Given the description of an element on the screen output the (x, y) to click on. 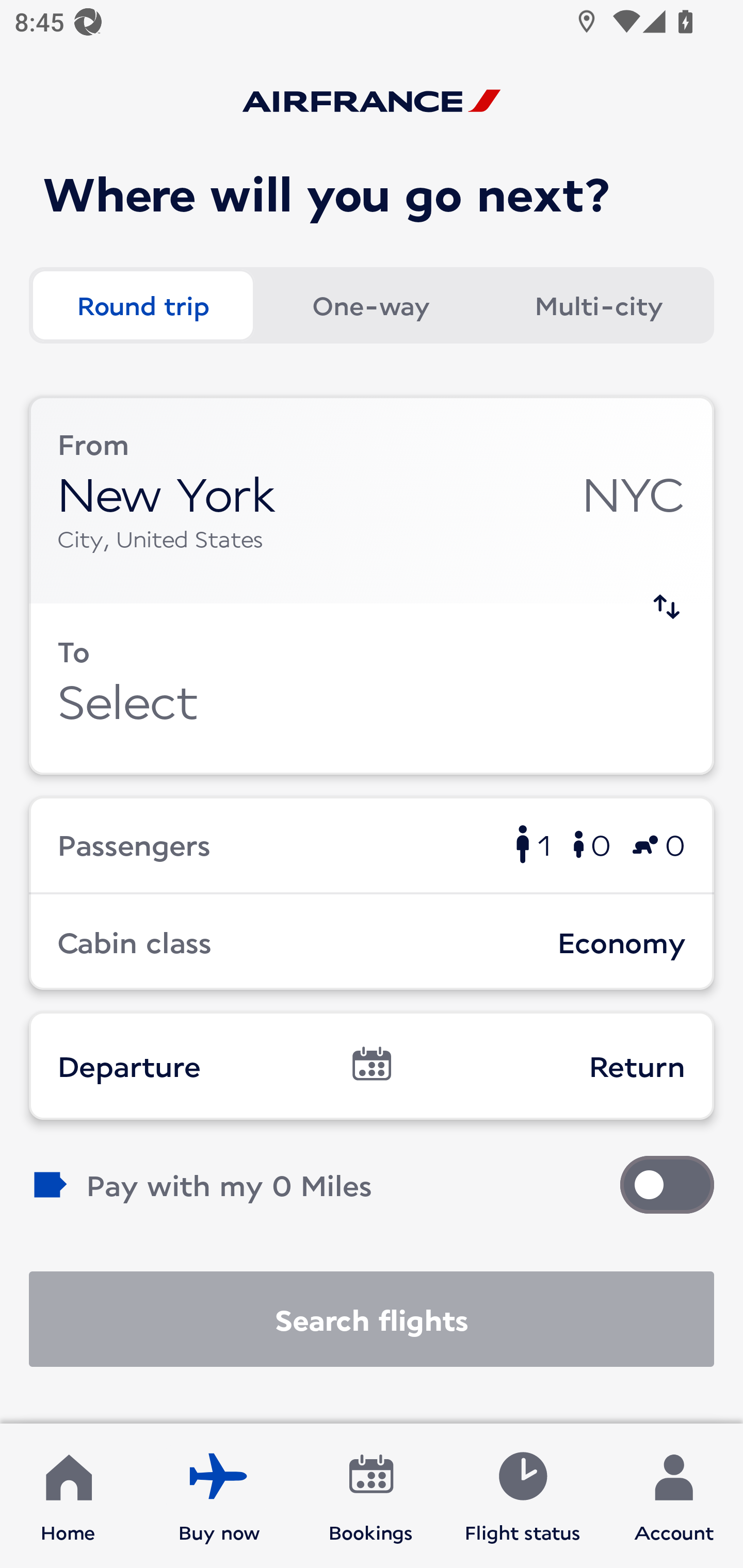
Round trip (142, 304)
One-way (370, 304)
Multi-city (598, 304)
From New York NYC City, United States (371, 499)
To Select (371, 688)
Passengers 1 0 0 (371, 844)
Cabin class Economy (371, 941)
Departure Return (371, 1065)
Search flights (371, 1319)
Home (68, 1495)
Bookings (370, 1495)
Flight status (522, 1495)
Account (674, 1495)
